Given the description of an element on the screen output the (x, y) to click on. 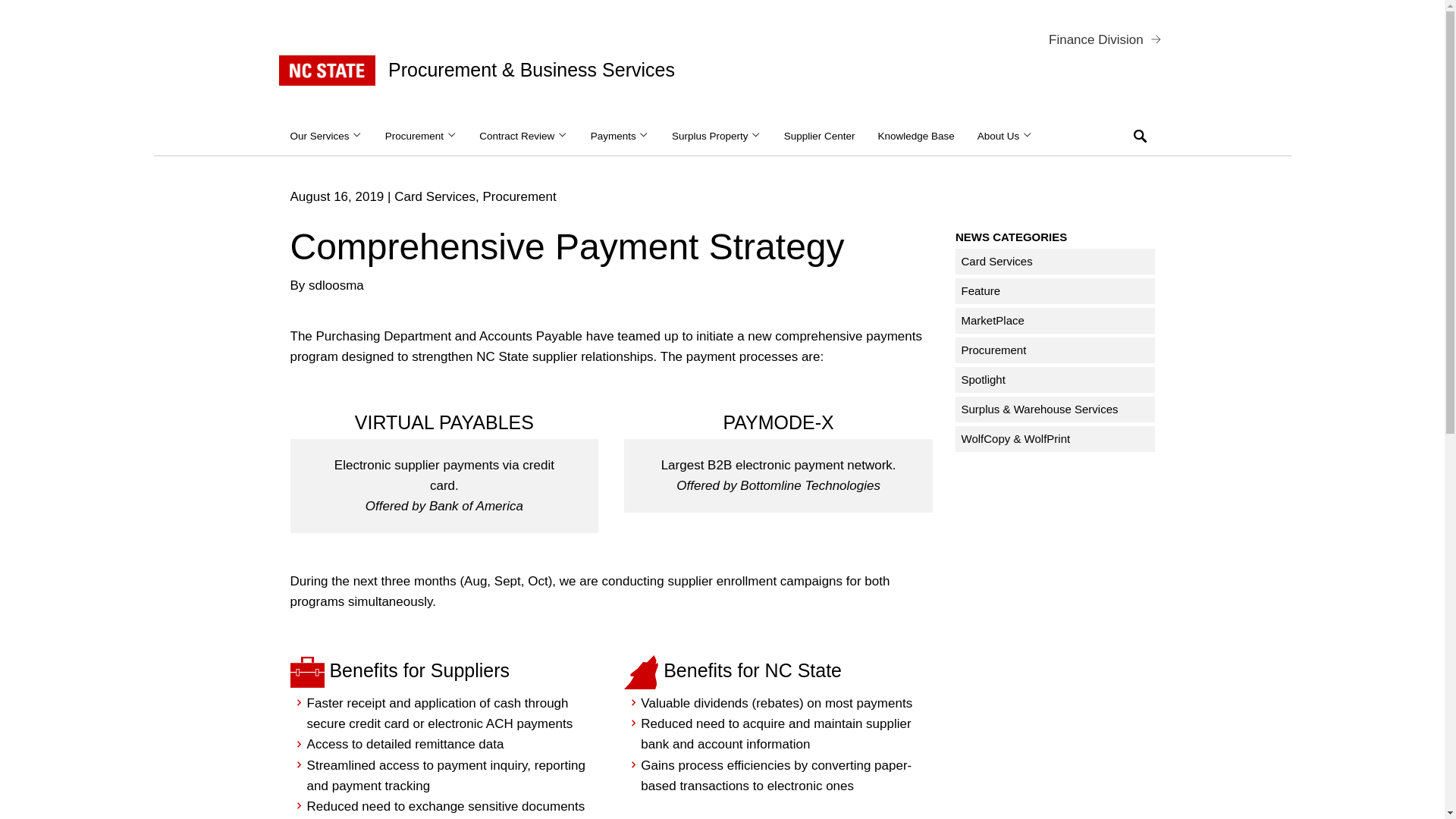
Surplus Property (717, 136)
Contract Review (522, 136)
Procurement (421, 136)
About Us (1004, 136)
Payments (620, 136)
Finance Division (1095, 38)
Supplier Center (819, 136)
Search (1140, 136)
Our Services (326, 136)
Knowledge Base (916, 136)
